Given the description of an element on the screen output the (x, y) to click on. 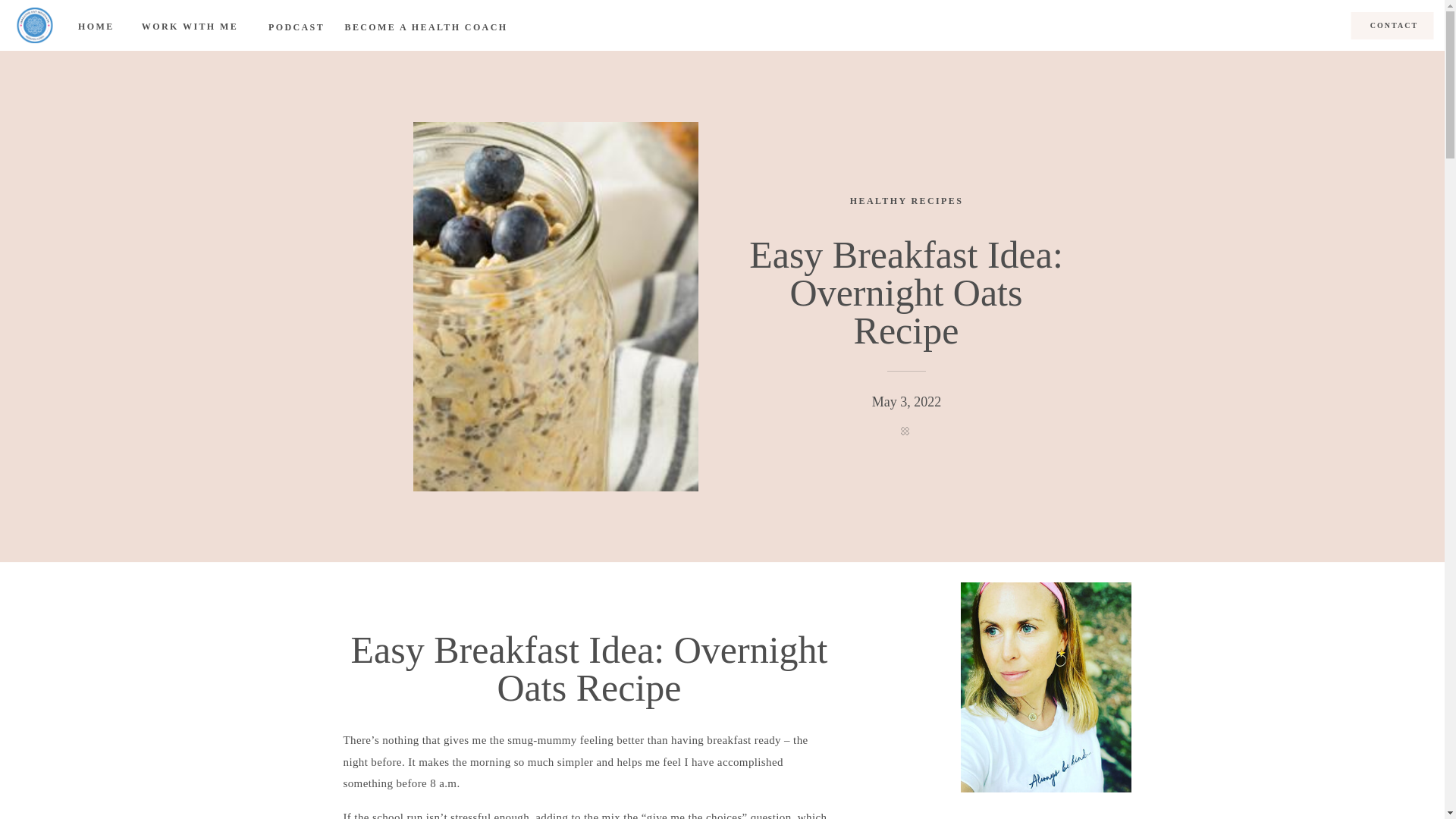
PODCAST (295, 26)
HOME (93, 26)
BECOME A HEALTH COACH (426, 26)
WORK WITH ME (189, 26)
CONTACT (1394, 27)
HEALTHY RECIPES (906, 200)
